Given the description of an element on the screen output the (x, y) to click on. 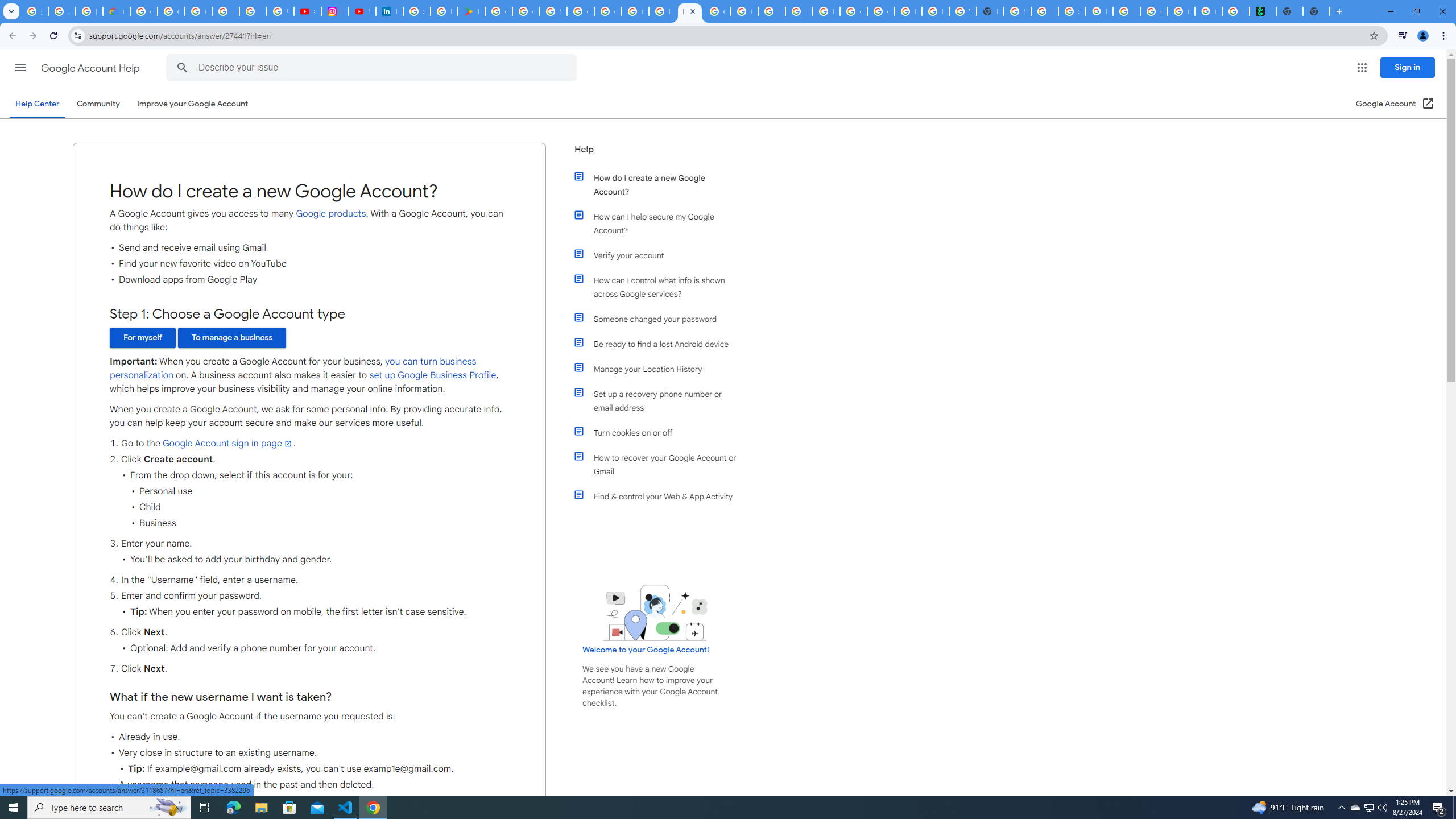
Sign in - Google Accounts (1017, 11)
Community (97, 103)
To manage a business (231, 337)
Sign in - Google Accounts (416, 11)
Set up a recovery phone number or email address (661, 400)
Google Cloud Platform (580, 11)
New Tab (990, 11)
Google Workspace - Specific Terms (525, 11)
